Given the description of an element on the screen output the (x, y) to click on. 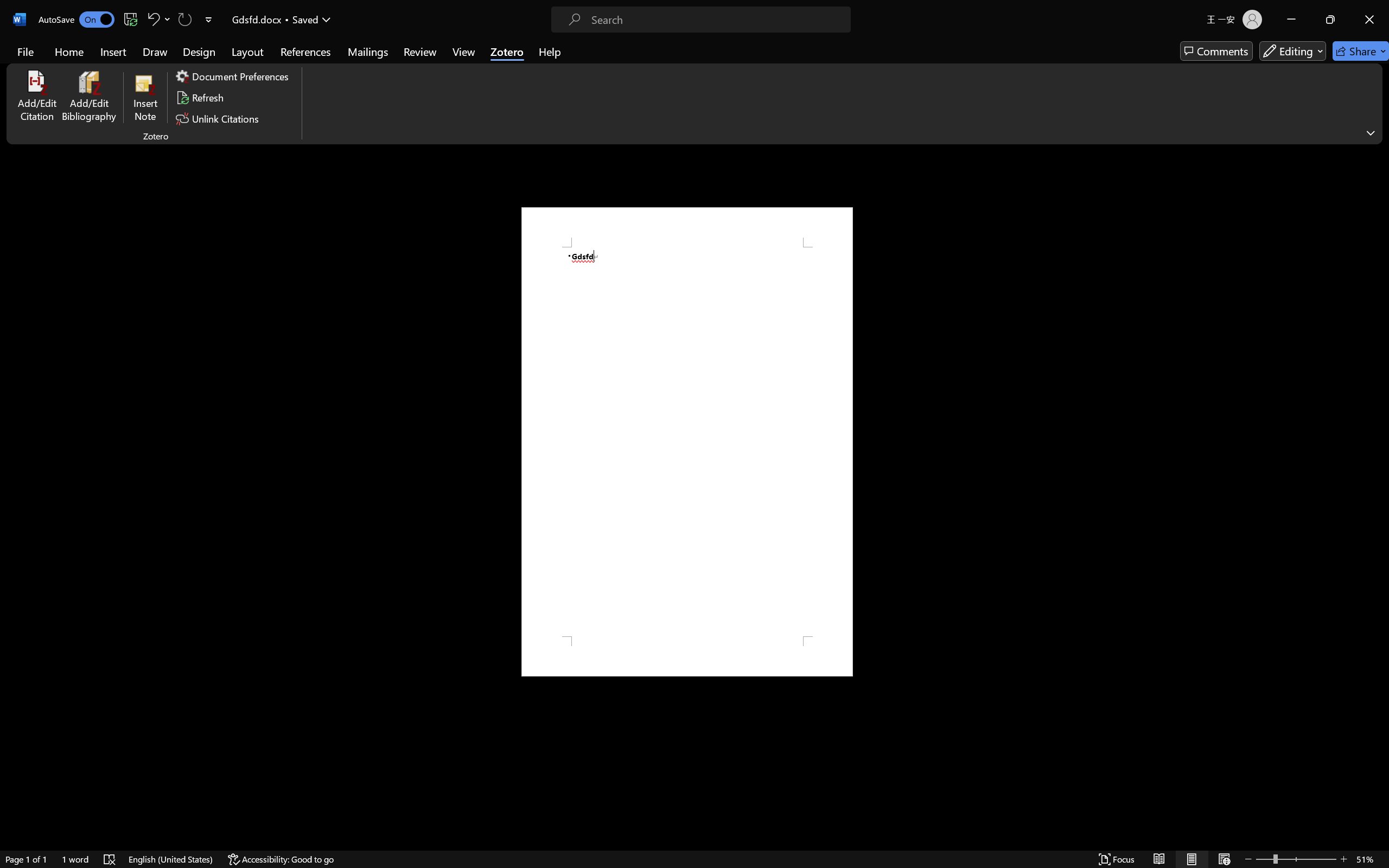
Page 1 content (686, 441)
